Given the description of an element on the screen output the (x, y) to click on. 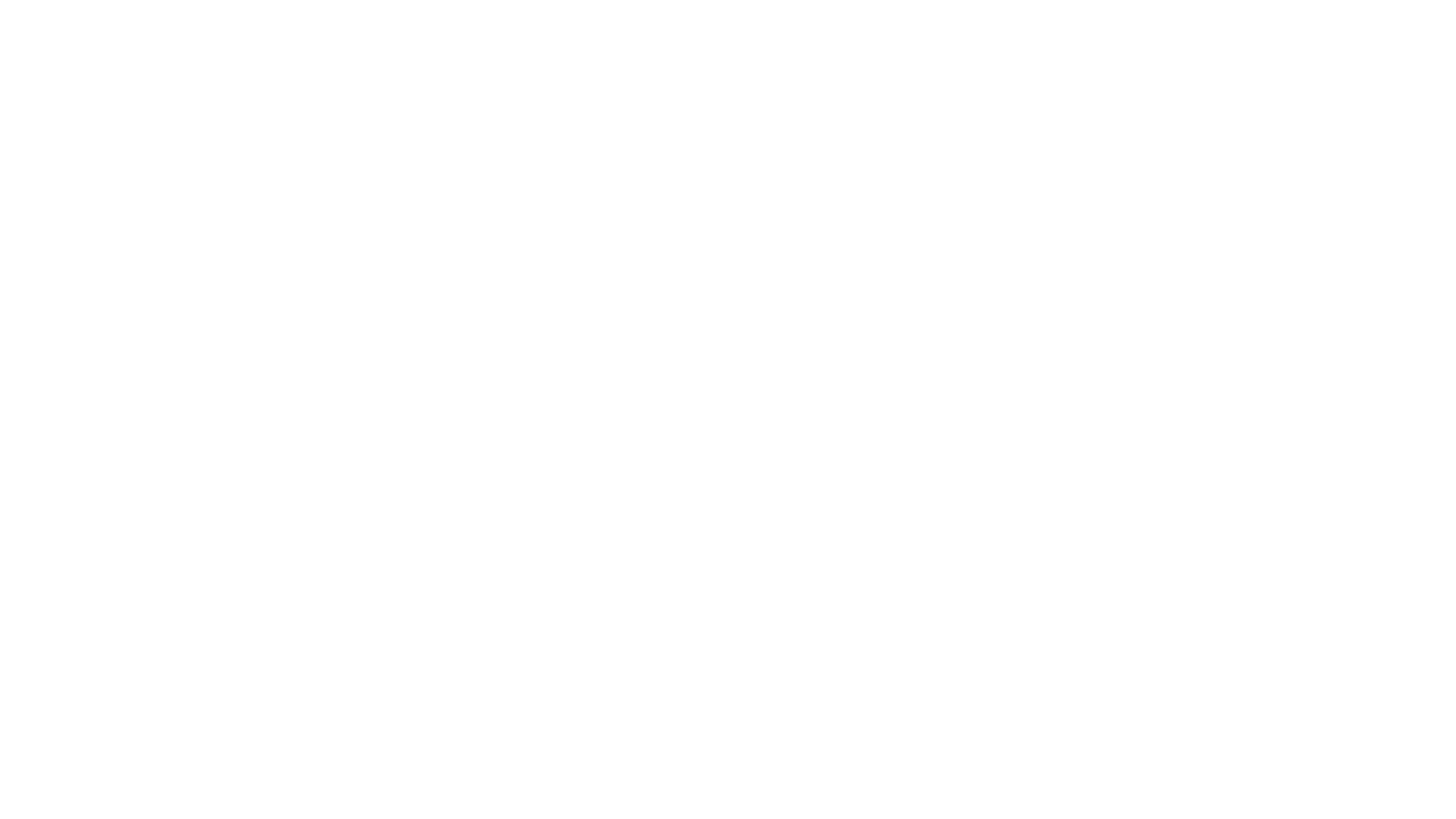
CAST Element type: text (1176, 37)
MENU Element type: text (1236, 37)
SCHEDULE Element type: text (1311, 37)
RECRUIT Element type: text (1394, 37)
gender bar MUMA Element type: text (133, 42)
MUMA Element type: text (1115, 37)
